Given the description of an element on the screen output the (x, y) to click on. 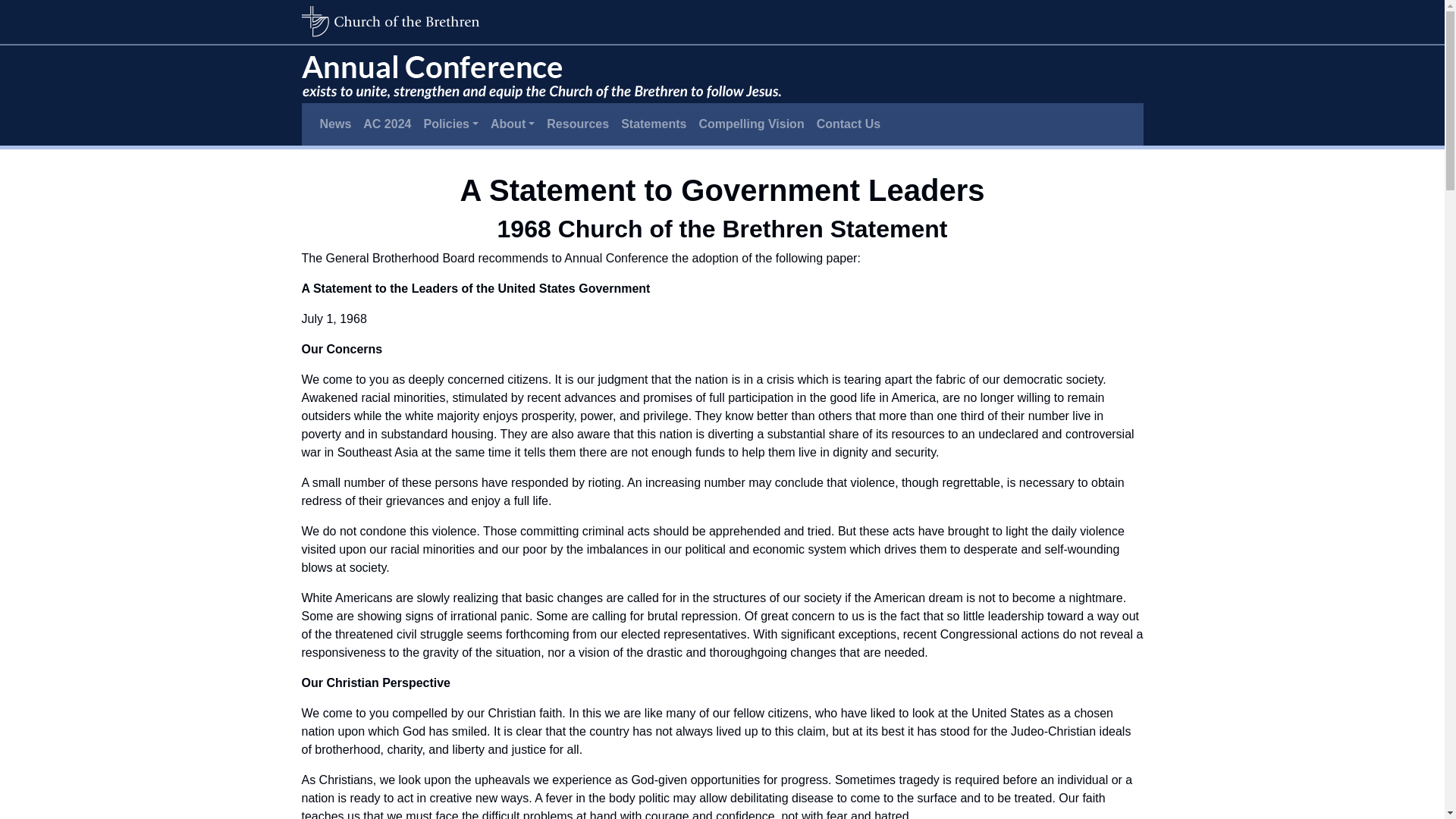
Resources (577, 123)
Statements (653, 123)
Resources (577, 123)
AC 2024 (386, 123)
Contact Us (848, 123)
About (512, 123)
News (336, 123)
About (512, 123)
Policies (450, 123)
Policies (450, 123)
AC 2024 (386, 123)
Compelling Vision (751, 123)
Statements (653, 123)
News (336, 123)
